Given the description of an element on the screen output the (x, y) to click on. 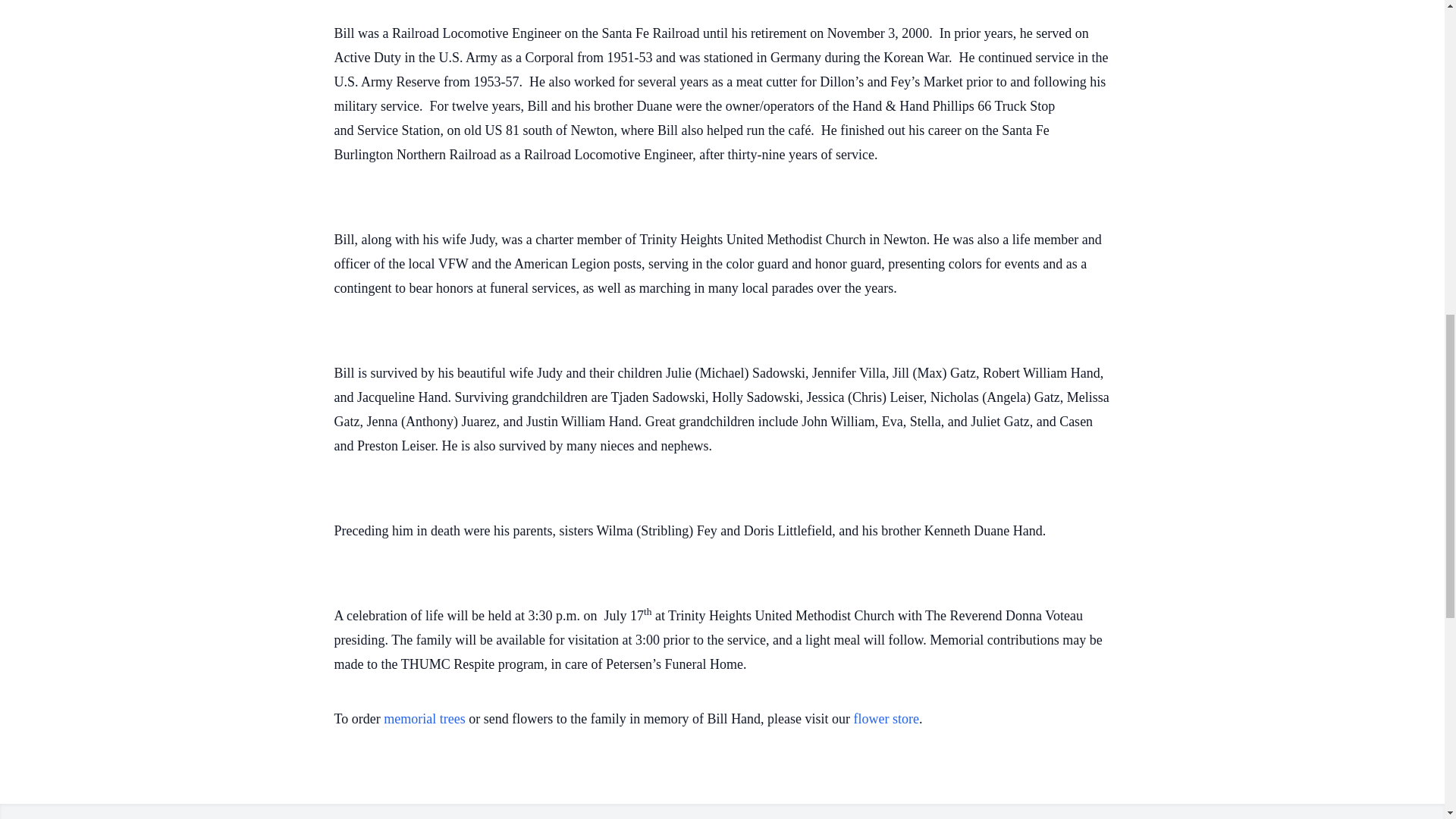
memorial trees (424, 718)
flower store (885, 718)
